Given the description of an element on the screen output the (x, y) to click on. 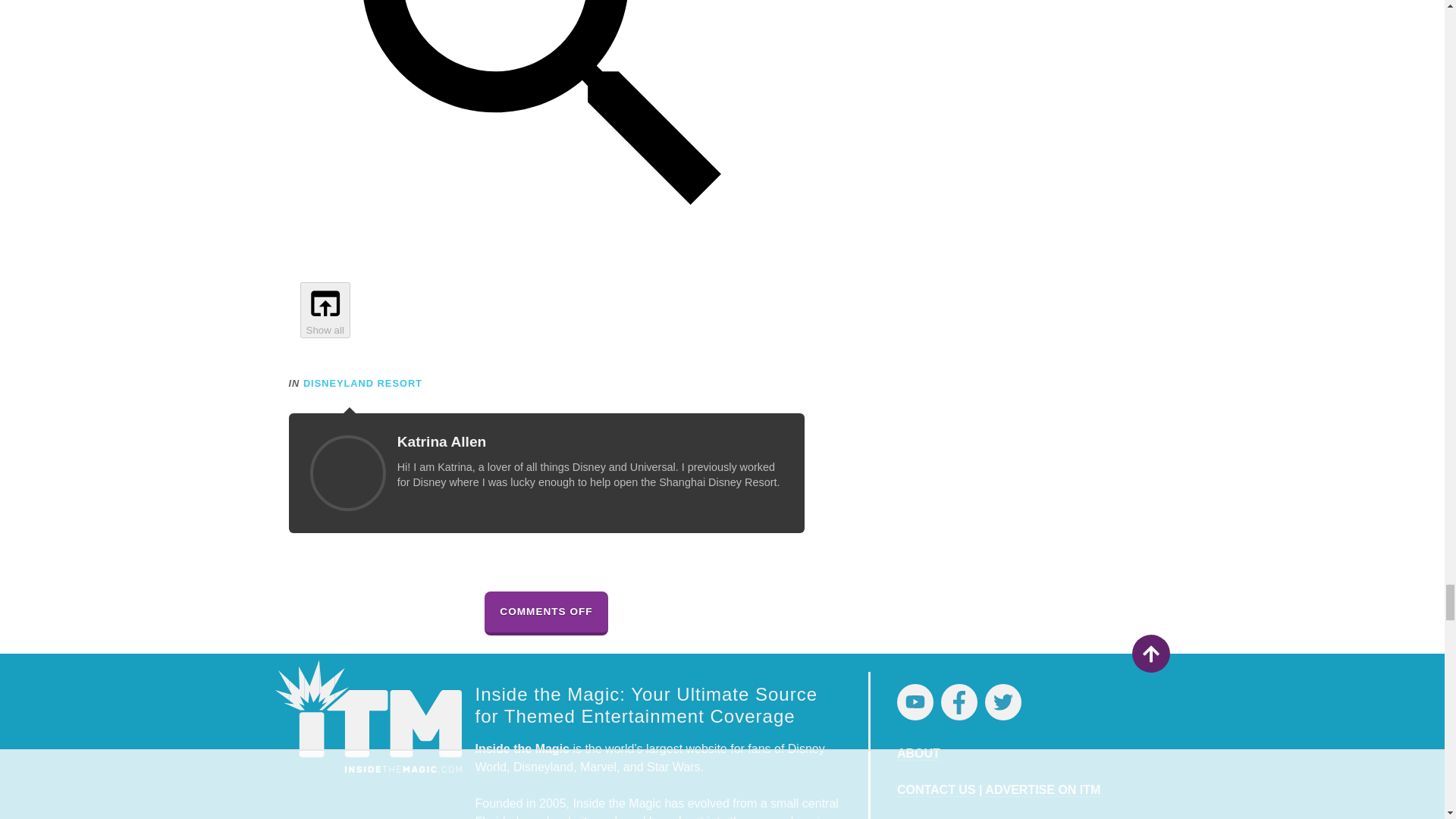
Return to Top (1150, 653)
